Given the description of an element on the screen output the (x, y) to click on. 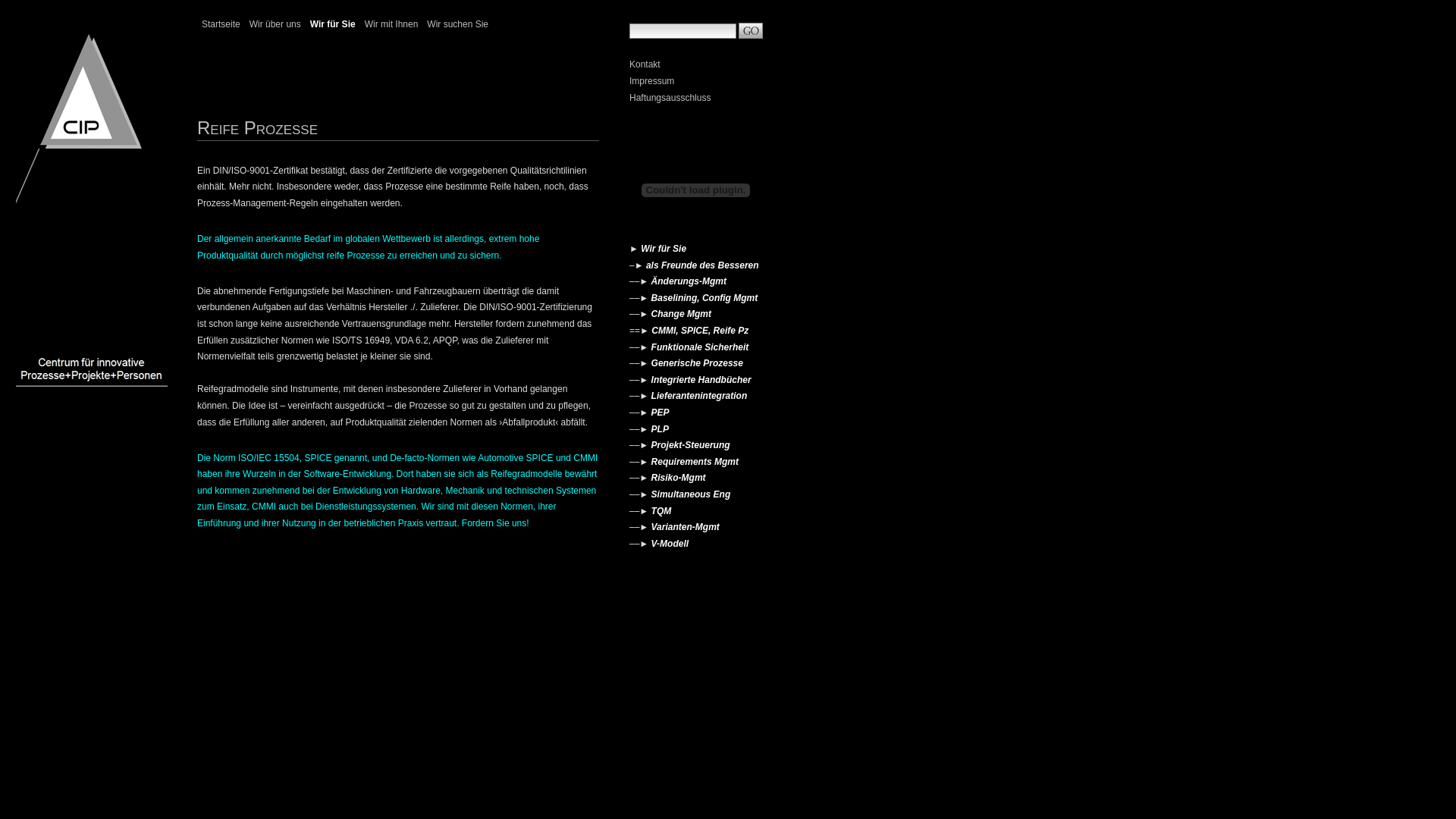
Wir suchen Sie Element type: text (457, 25)
Lieferantenintegration Element type: text (699, 395)
PEP Element type: text (660, 412)
als Freunde des Besseren Element type: text (702, 265)
Impressum Element type: text (691, 80)
TQM Element type: text (661, 510)
Haftungsausschluss Element type: text (691, 97)
V-Modell Element type: text (670, 543)
Requirements Mgmt Element type: text (694, 461)
Funktionale Sicherheit Element type: text (700, 347)
Risiko-Mgmt Element type: text (678, 477)
Kontakt Element type: text (691, 64)
Wir mit Ihnen Element type: text (391, 25)
CMMI, SPICE, Reife Pz Element type: text (699, 330)
Generische Prozesse Element type: text (697, 362)
Varianten-Mgmt Element type: text (685, 526)
Baselining, Config Mgmt Element type: text (704, 297)
Projekt-Steuerung Element type: text (690, 444)
Simultaneous Eng Element type: text (691, 494)
Change Mgmt Element type: text (681, 313)
Startseite Element type: text (220, 25)
PLP Element type: text (659, 428)
